Given the description of an element on the screen output the (x, y) to click on. 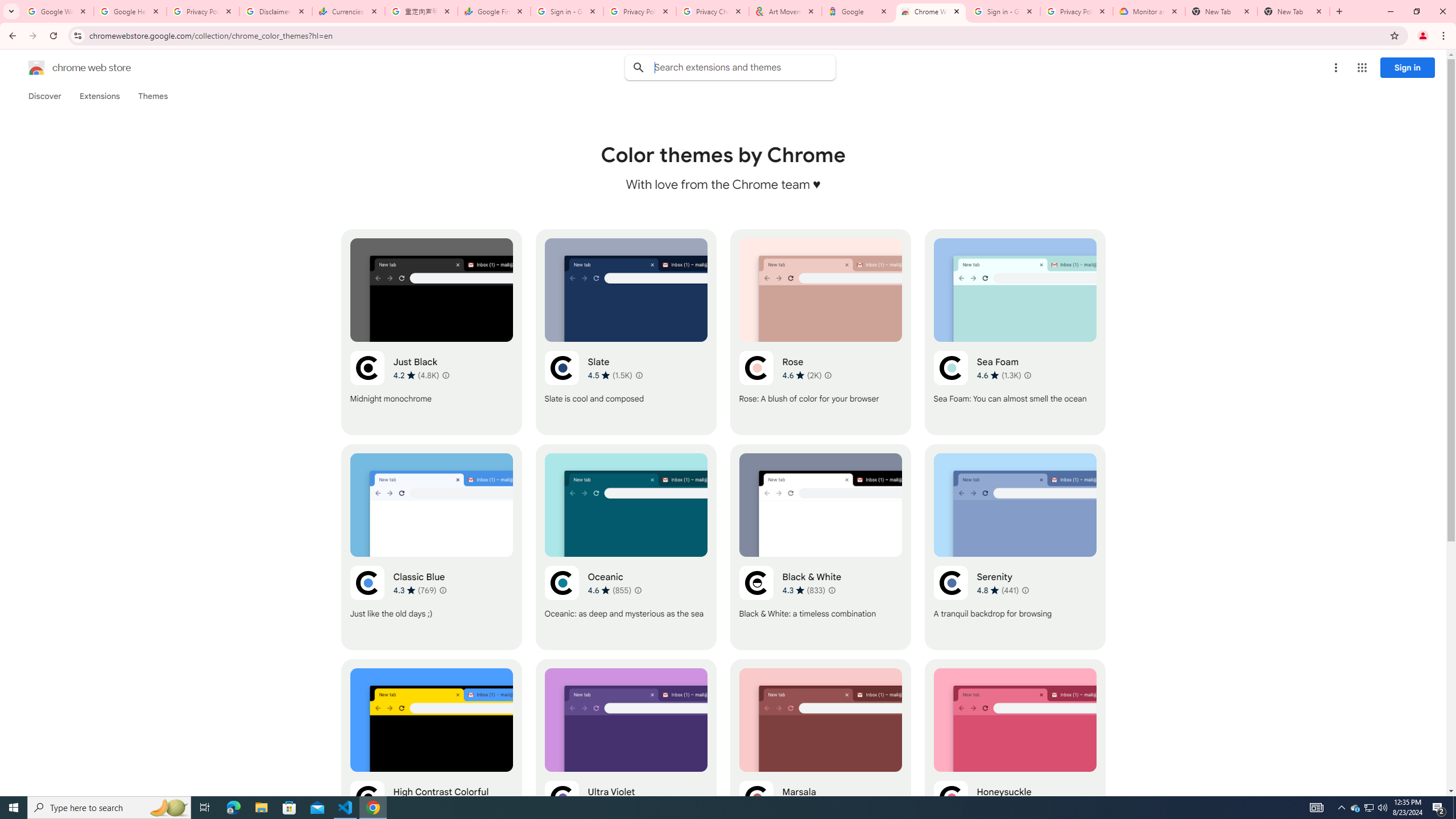
Just Black (431, 331)
Sign in - Google Accounts (1003, 11)
Serenity (1014, 546)
Extensions (99, 95)
Search input (744, 67)
Themes (152, 95)
Average rating 4.6 out of 5 stars. 855 ratings. (609, 590)
Sign in - Google Accounts (566, 11)
